Given the description of an element on the screen output the (x, y) to click on. 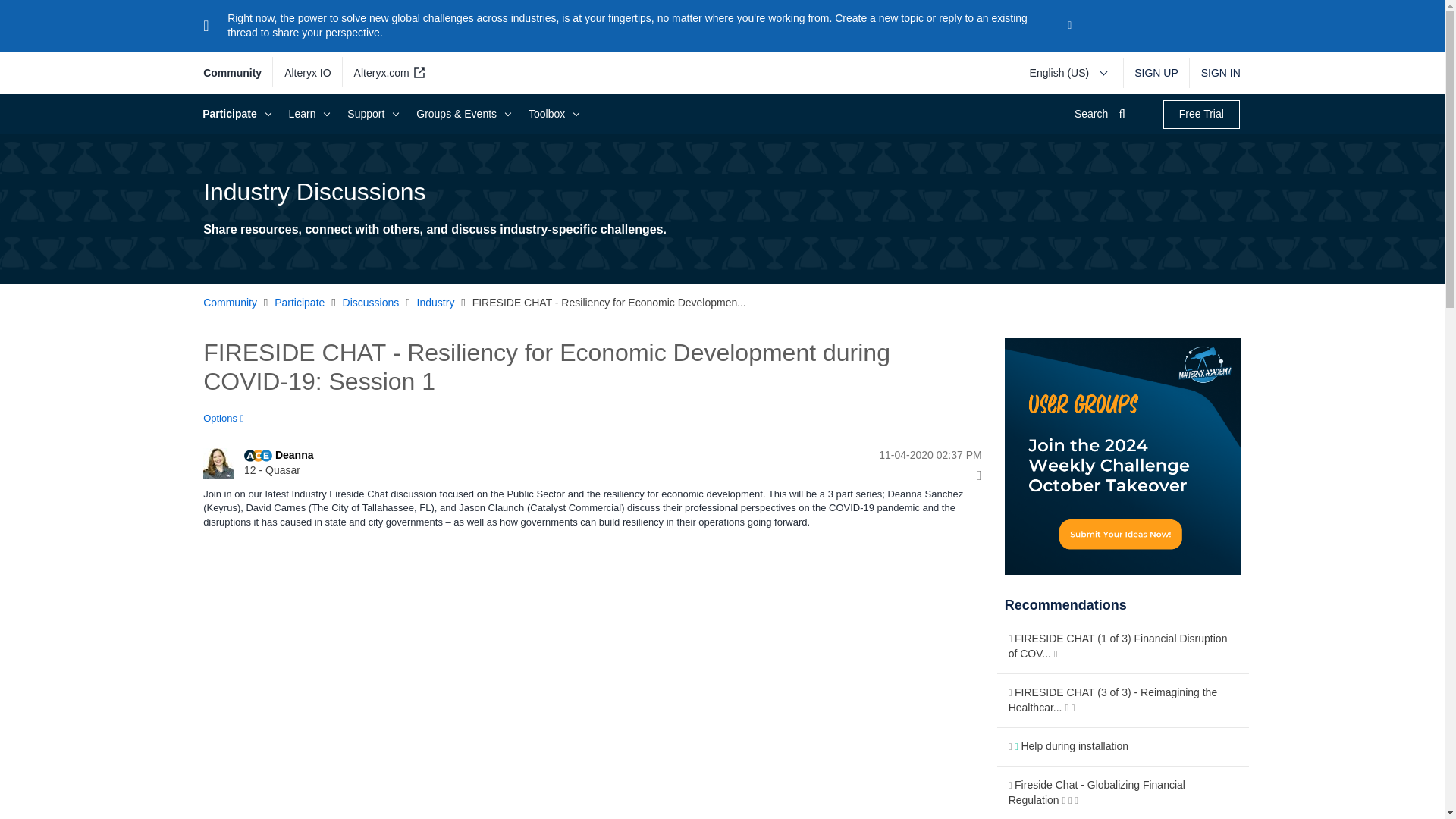
Alteryx IO (307, 72)
Show option menu (228, 418)
alteryx.com (386, 72)
SIGN UP (1155, 72)
SIGN IN (1215, 72)
Deanna (217, 462)
Community (238, 72)
Posted on (862, 455)
12 - Quasar (258, 455)
